Given the description of an element on the screen output the (x, y) to click on. 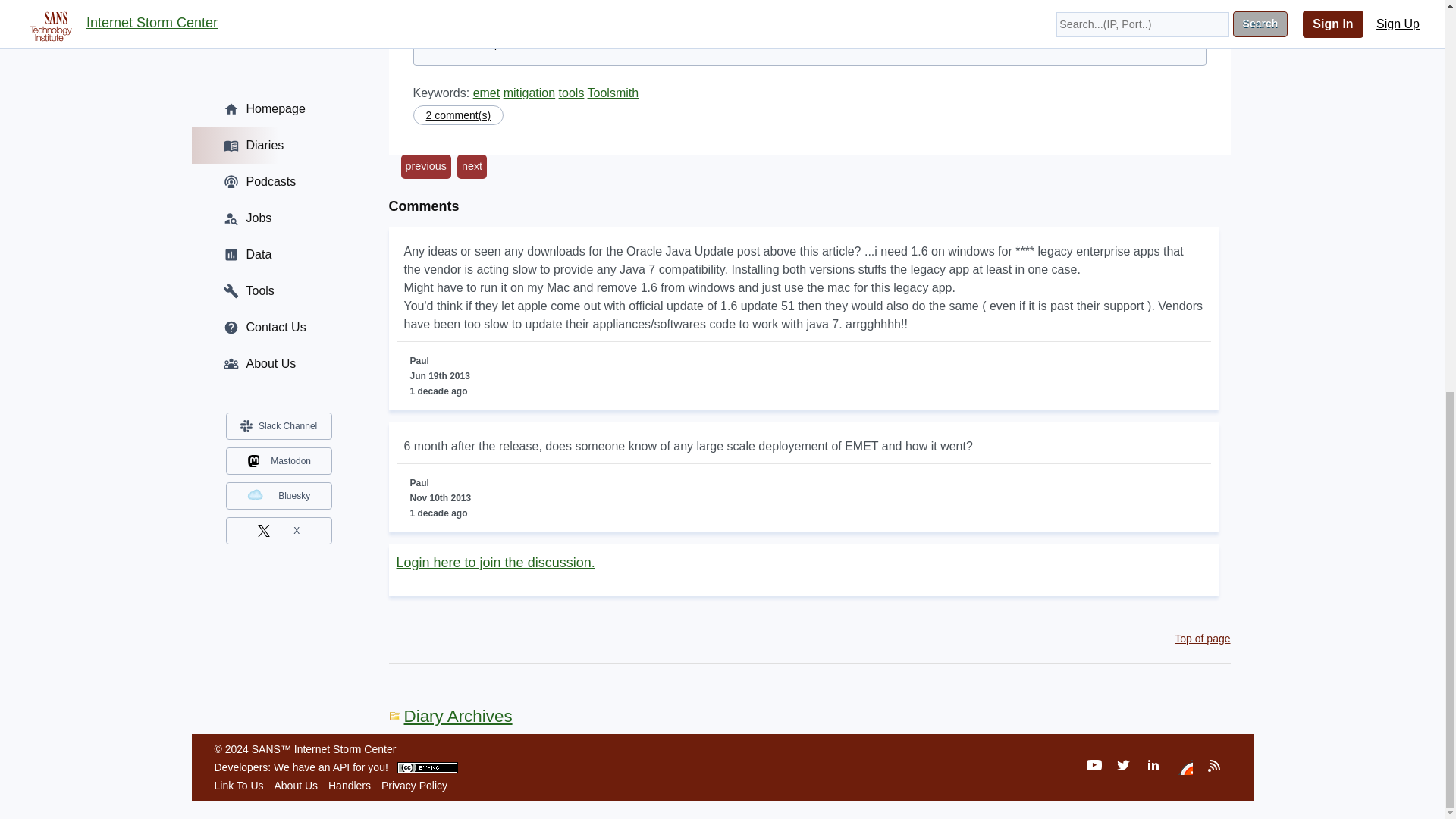
Russ McRee (459, 42)
Top of page (1202, 638)
Login here to join the discussion. (495, 562)
tools (572, 92)
previous (424, 166)
mitigation (528, 92)
Toolsmith (613, 92)
Diary Archives (450, 715)
emet (486, 92)
next (471, 166)
